Given the description of an element on the screen output the (x, y) to click on. 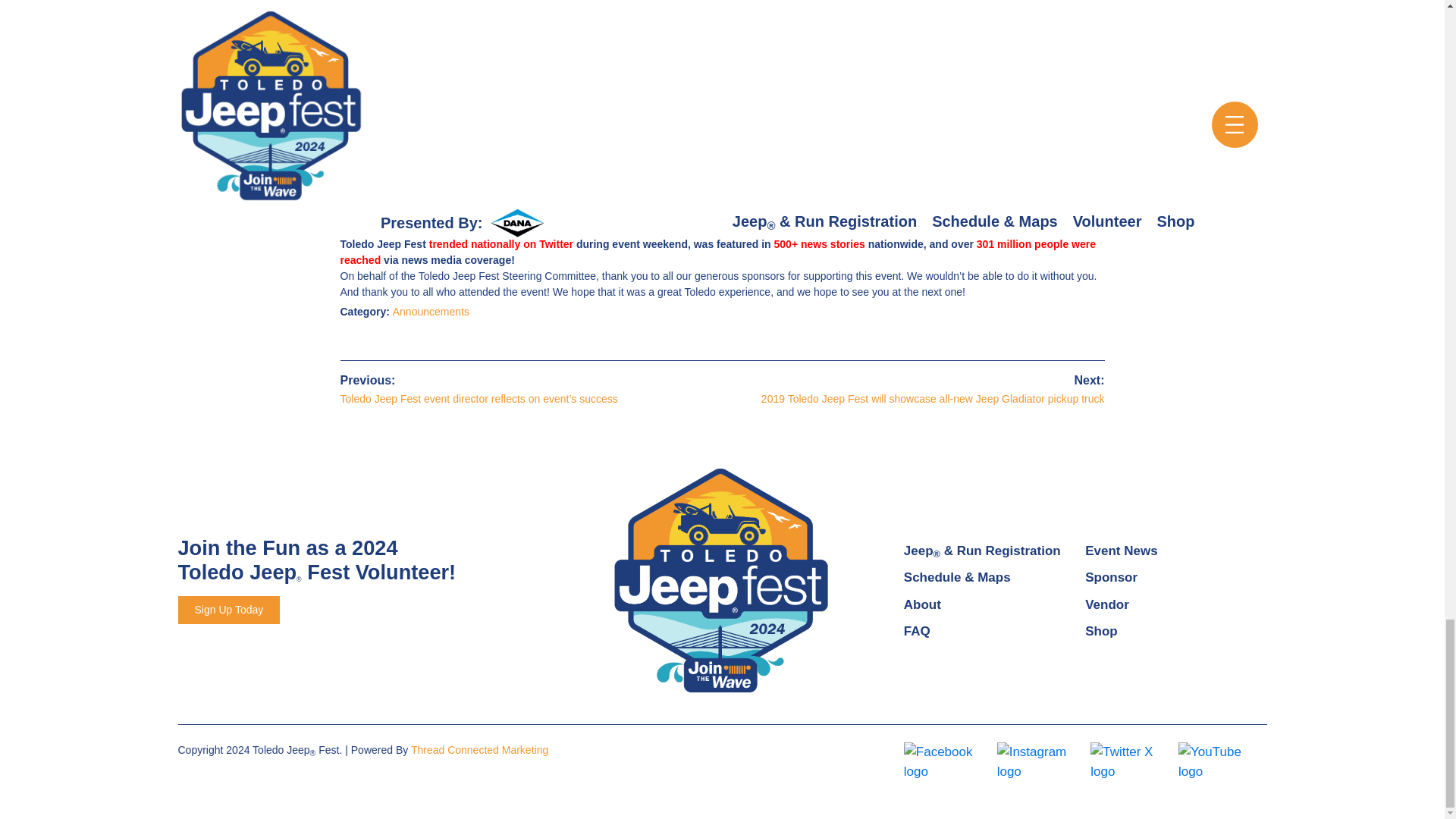
FAQ (917, 631)
Event News (1120, 550)
About (922, 604)
Announcements (430, 311)
Sign Up Today (228, 610)
